Given the description of an element on the screen output the (x, y) to click on. 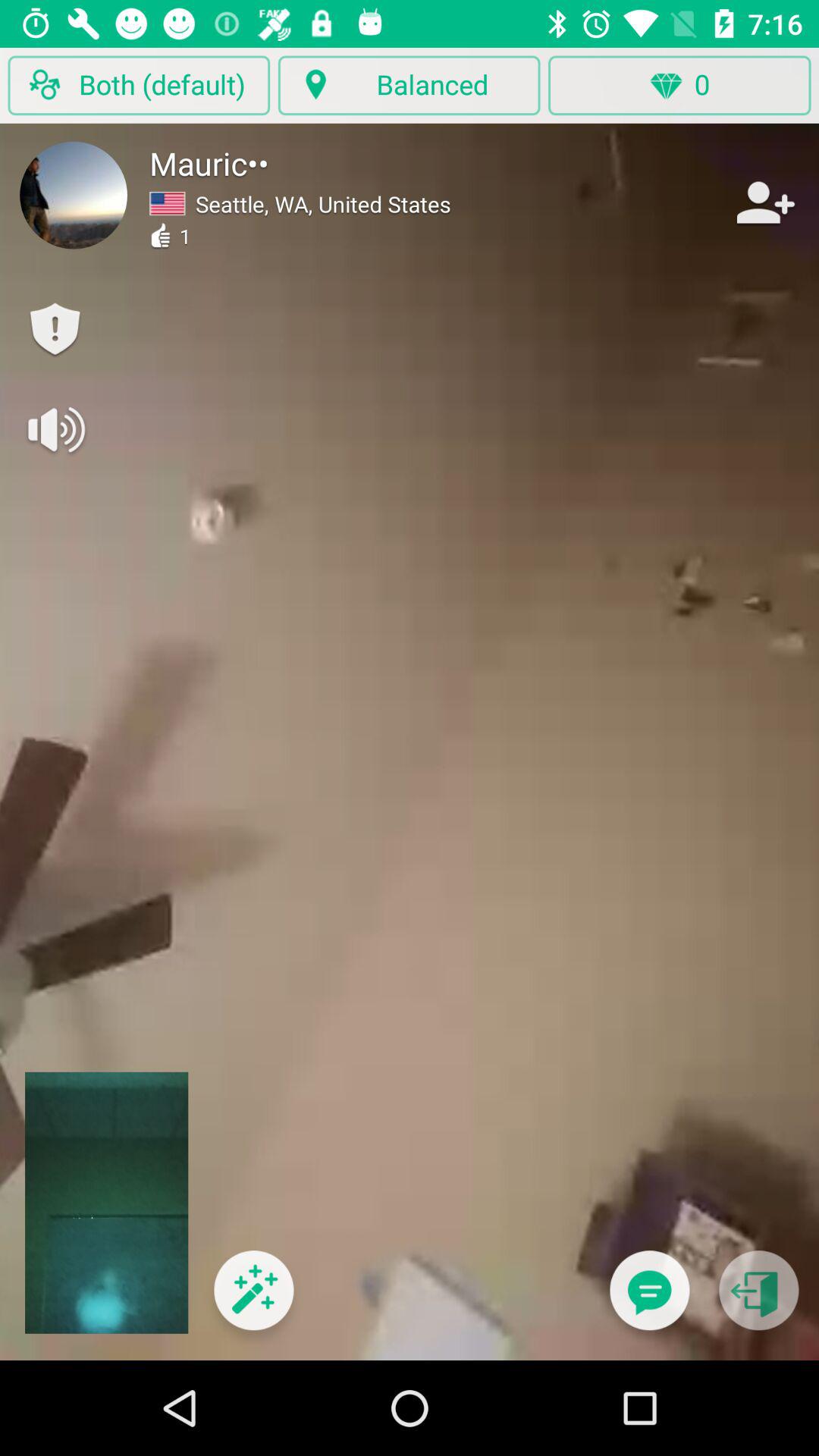
launch the item below 0 (649, 1300)
